Given the description of an element on the screen output the (x, y) to click on. 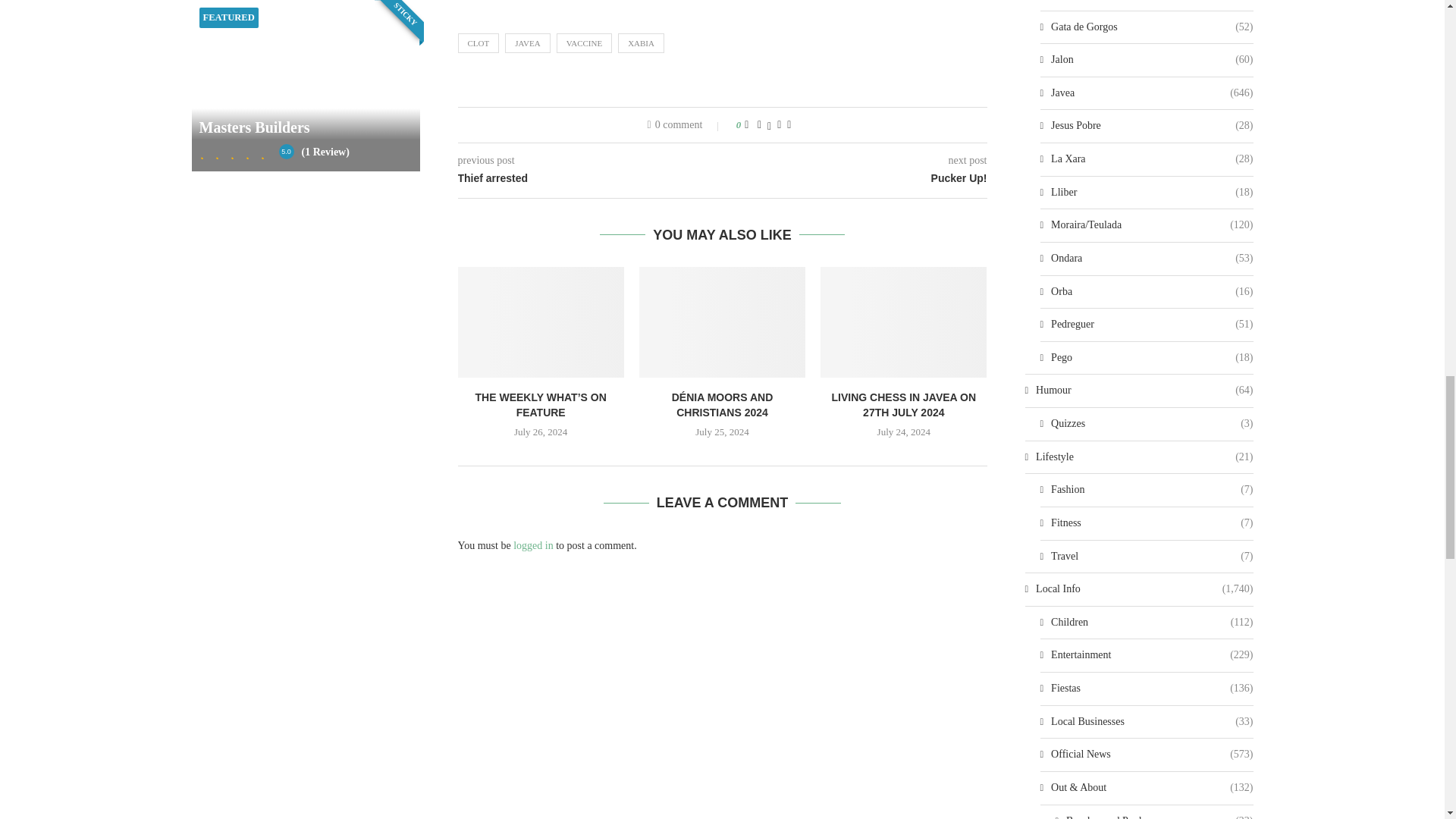
Living Chess in Javea on 27th July 2024 (904, 321)
